Given the description of an element on the screen output the (x, y) to click on. 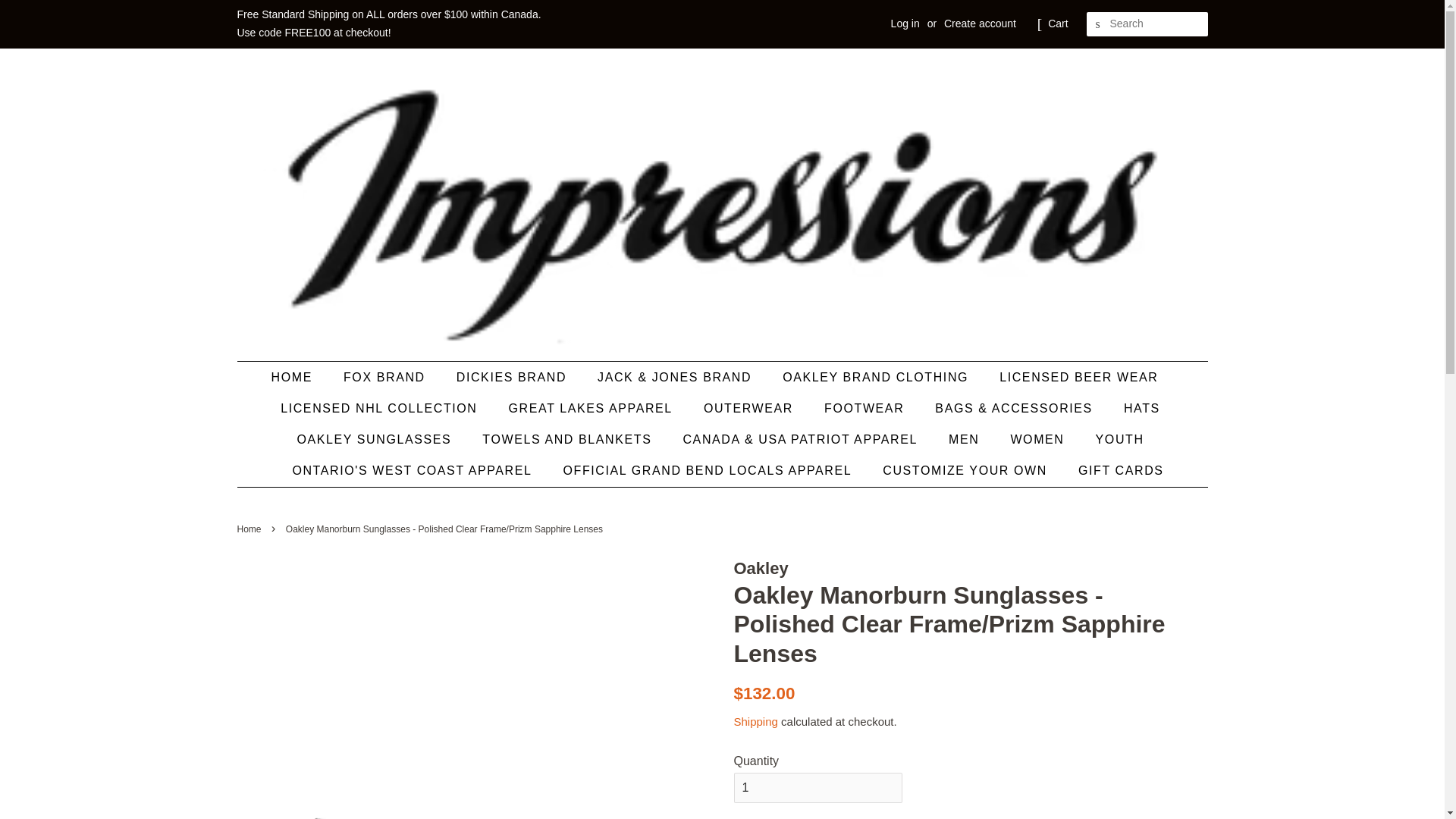
Create account (979, 23)
Log in (905, 23)
DICKIES BRAND (512, 377)
LICENSED BEER WEAR (1080, 377)
SEARCH (1097, 24)
OAKLEY BRAND CLOTHING (877, 377)
LICENSED NHL COLLECTION (380, 408)
FOX BRAND (386, 377)
HOME (298, 377)
1 (817, 788)
Back to the frontpage (249, 529)
Cart (1057, 24)
